Given the description of an element on the screen output the (x, y) to click on. 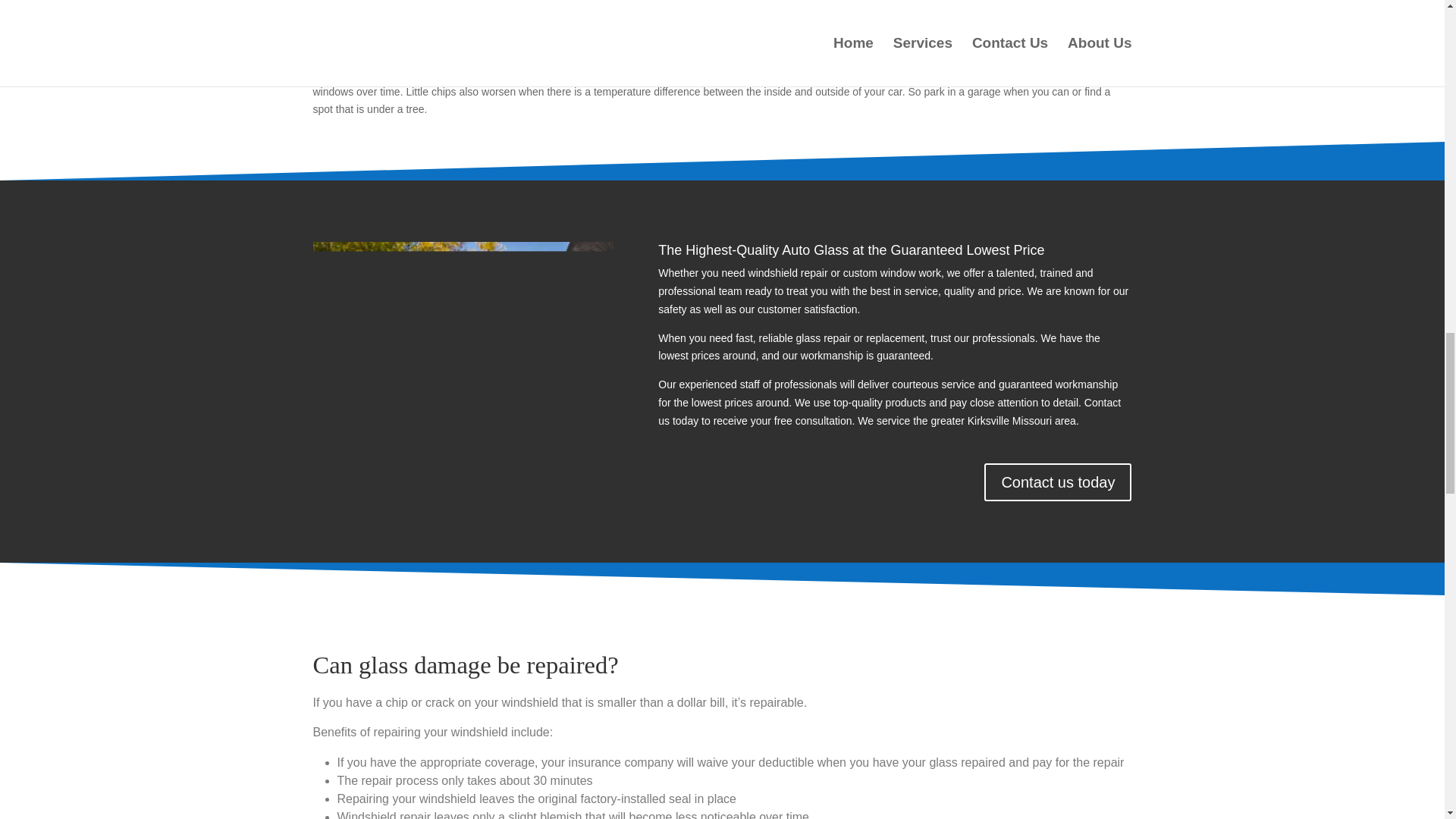
Contact us today (1057, 482)
